Given the description of an element on the screen output the (x, y) to click on. 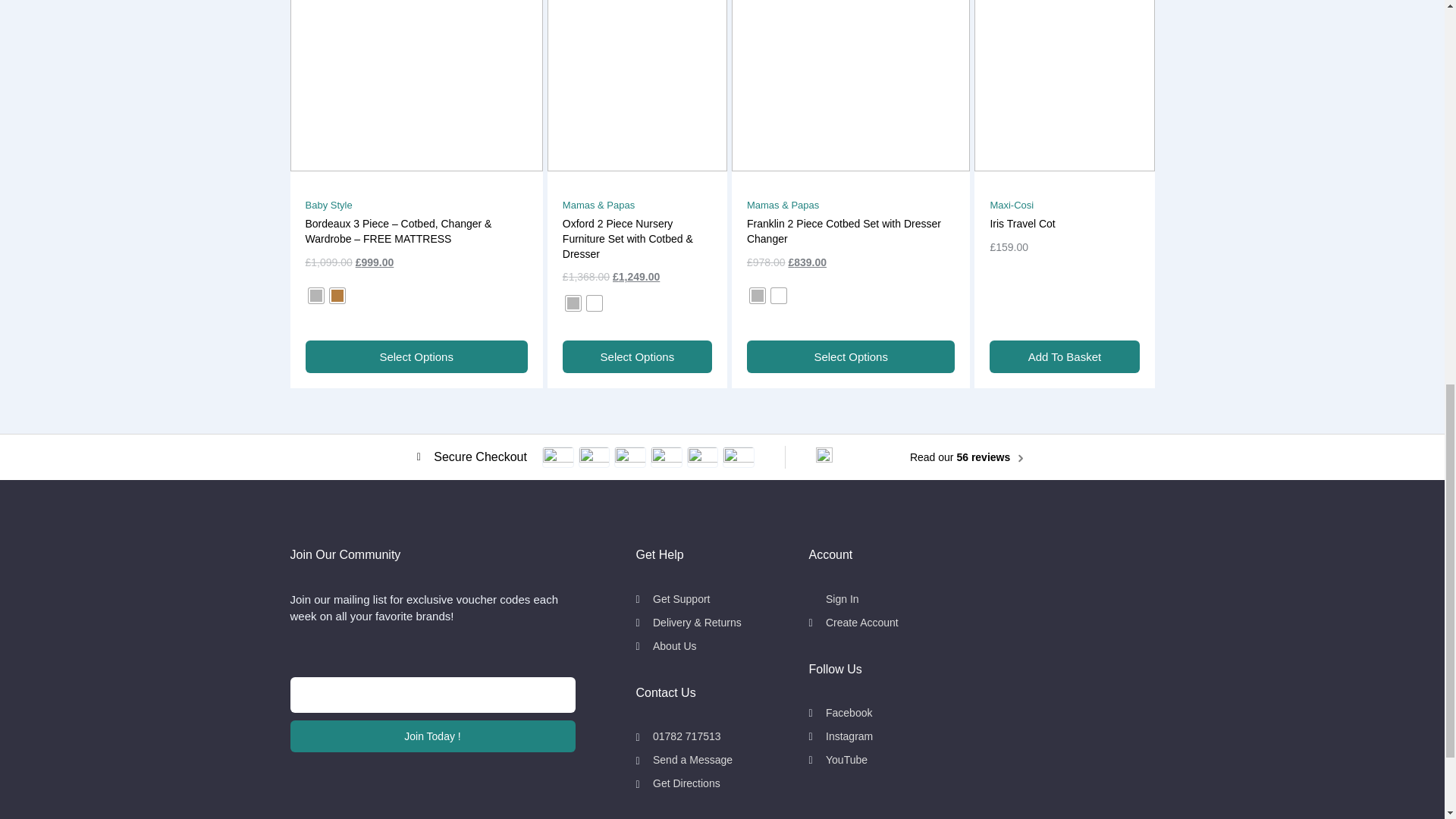
White (778, 295)
White (594, 303)
Grey (757, 295)
Grey (315, 295)
Grey (573, 303)
Oak (336, 295)
